Given the description of an element on the screen output the (x, y) to click on. 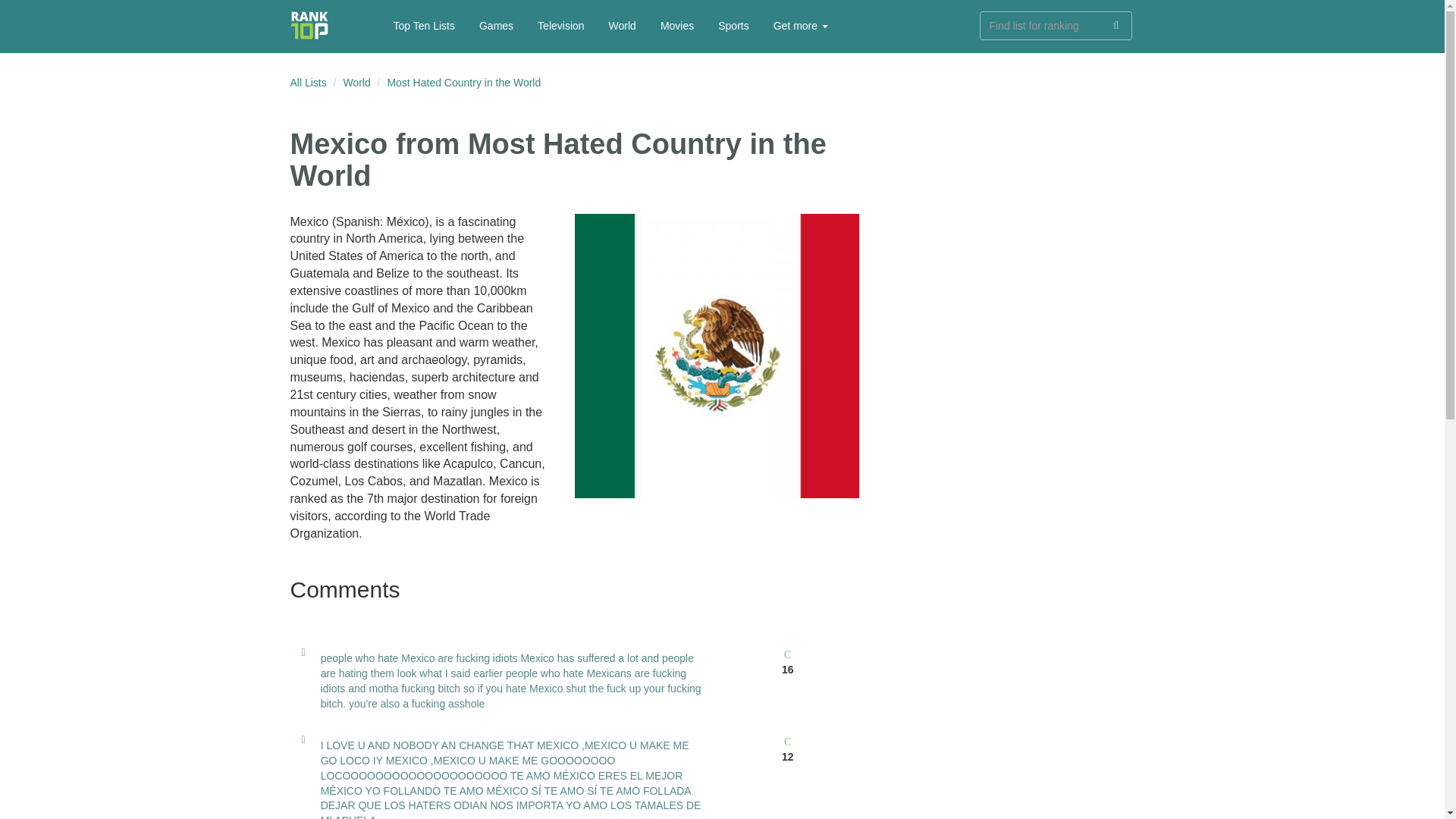
World (355, 82)
Get more (800, 25)
World (355, 82)
Sports (733, 25)
All Lists (307, 82)
Television (560, 25)
Most Hated Country in the World (463, 82)
Most Hated Country in the World (463, 82)
Top Ten Lists (422, 25)
Games (496, 25)
